Given the description of an element on the screen output the (x, y) to click on. 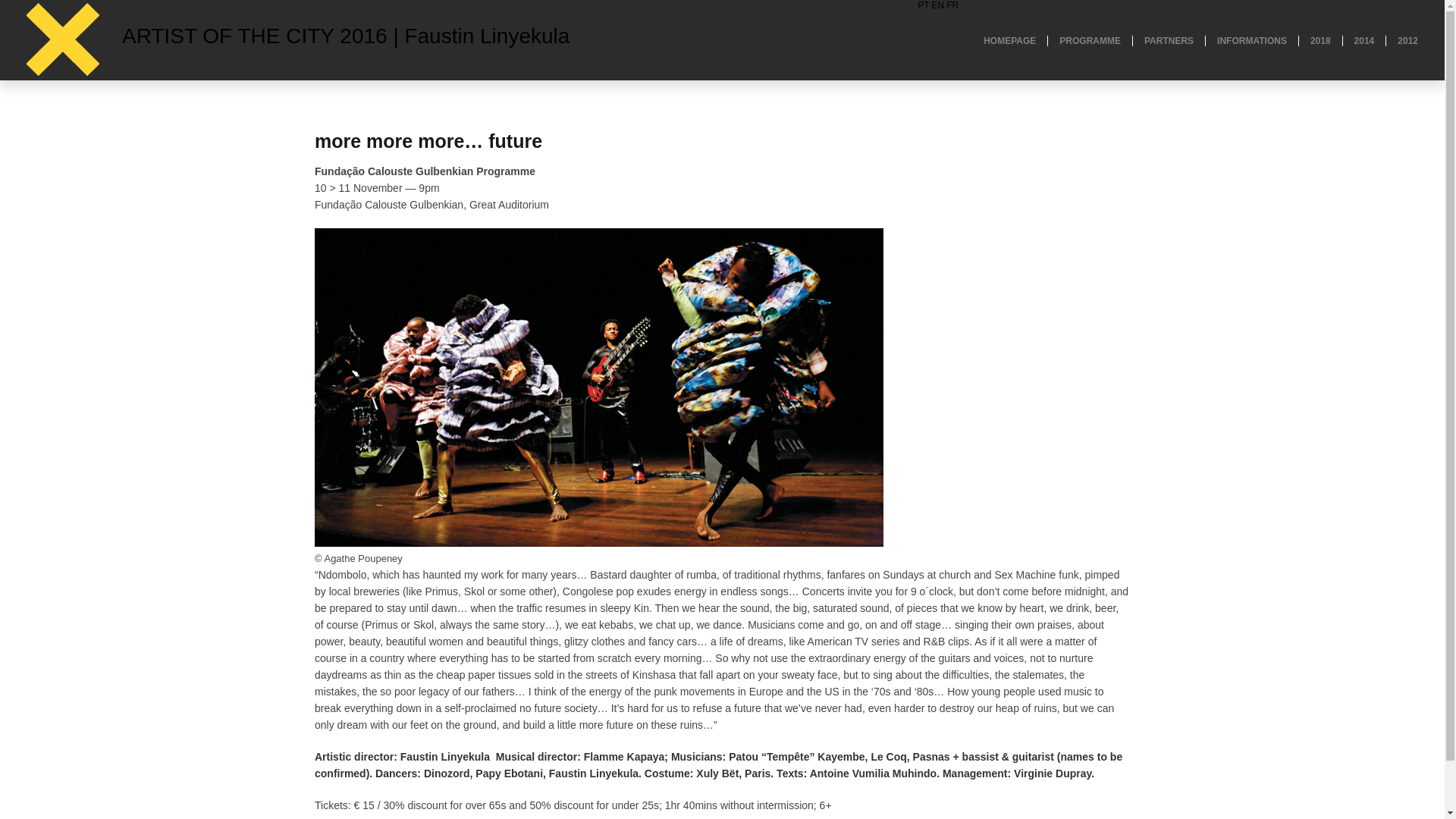
PARTNERS (1162, 40)
2012 (1402, 40)
HOMEPAGE (1003, 40)
PT (922, 5)
FR (952, 5)
EN (937, 5)
PROGRAMME (1083, 40)
2018 (1314, 40)
FR (952, 5)
2014 (1358, 40)
